Given the description of an element on the screen output the (x, y) to click on. 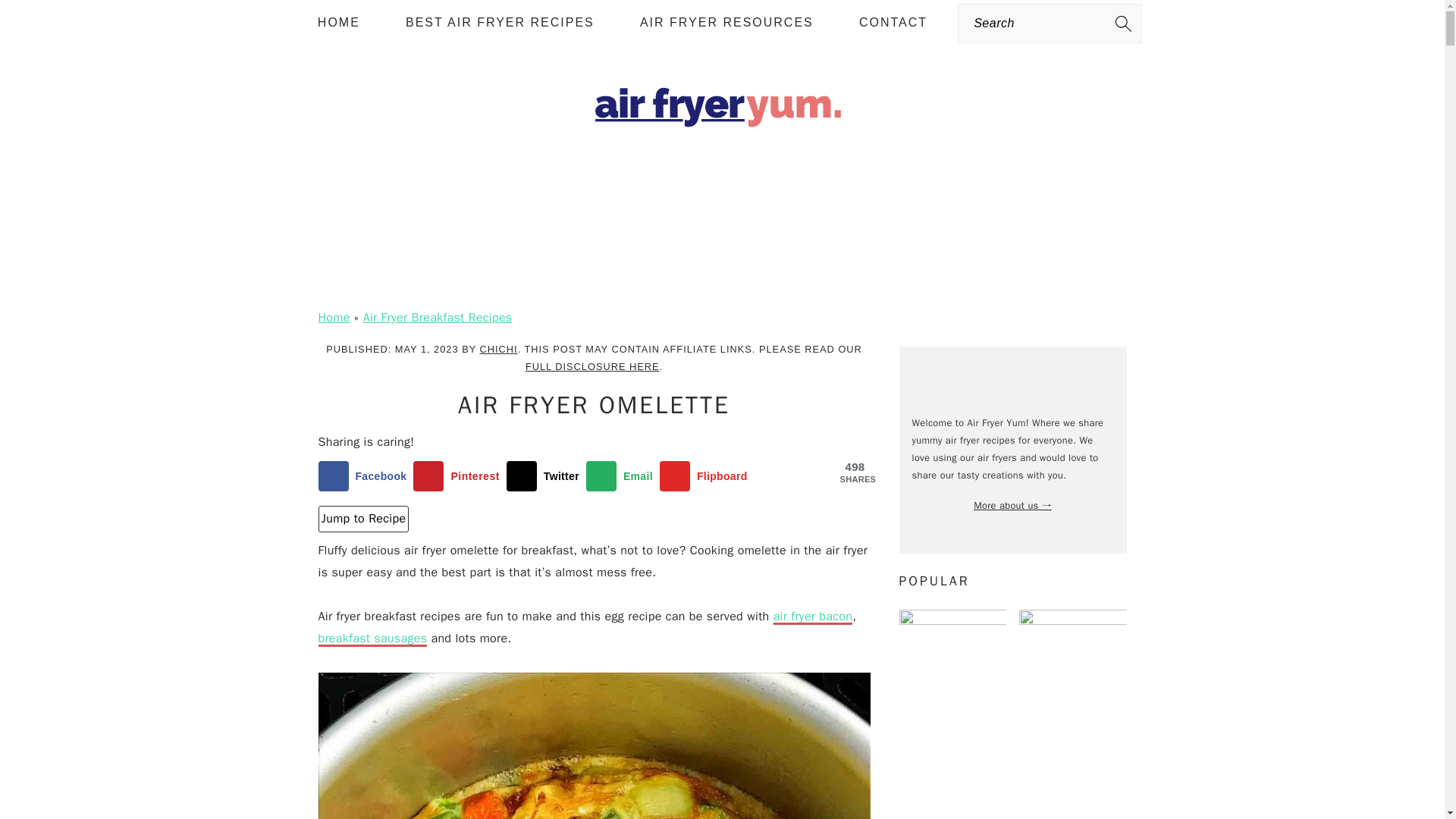
Send over email (622, 476)
Air Fryer Yum (721, 110)
Share on Facebook (365, 476)
Share on X (546, 476)
BEST AIR FRYER RECIPES (499, 22)
CHICHI (499, 348)
AIR FRYER RESOURCES (726, 22)
Air Fryer Breakfast Recipes (437, 317)
CONTACT (893, 22)
Air Fryer Yum (721, 165)
Search (275, 19)
Share on Flipboard (706, 476)
Home (334, 317)
Save to Pinterest (459, 476)
